Given the description of an element on the screen output the (x, y) to click on. 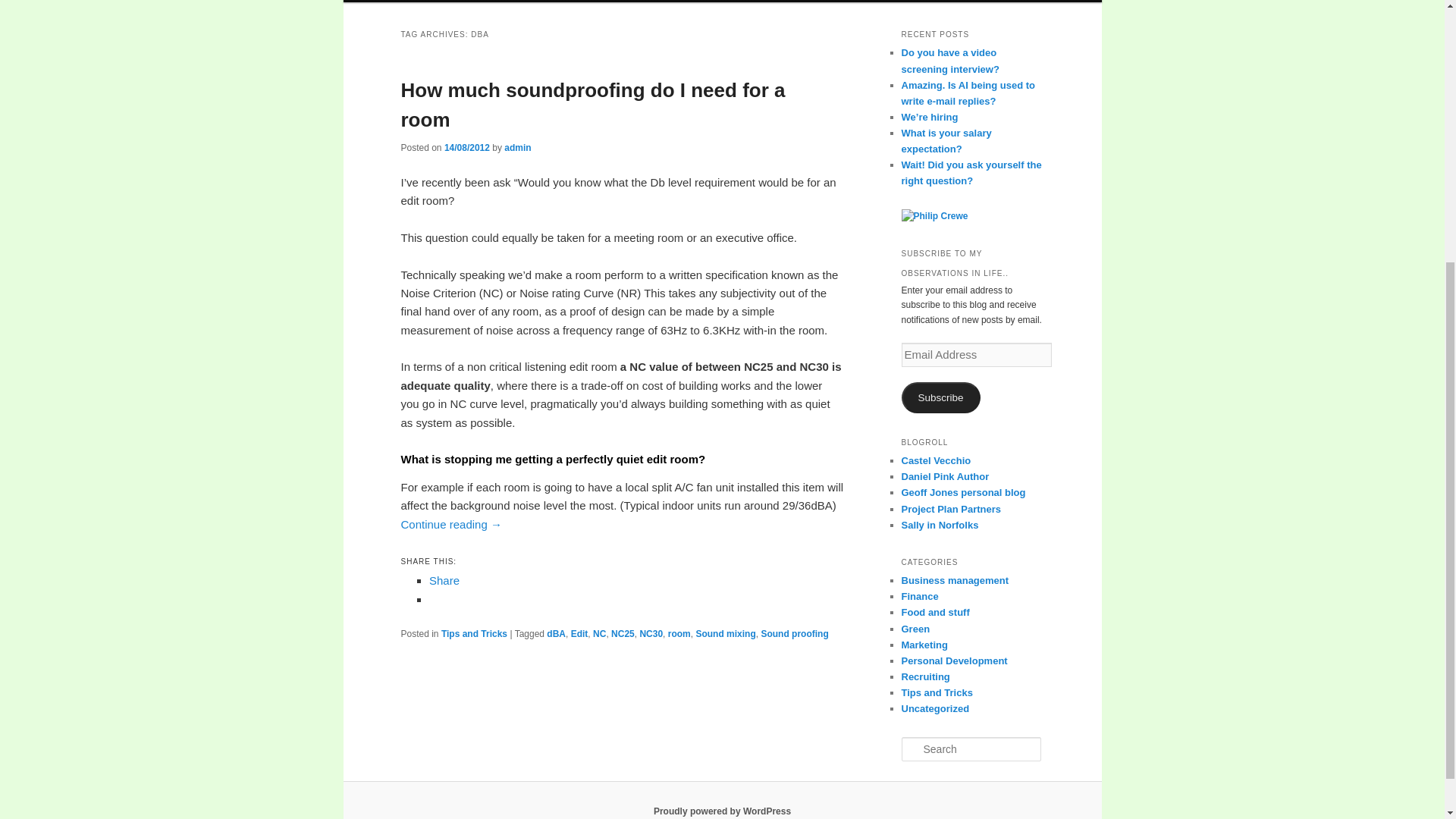
About (467, 1)
room (679, 633)
Blog written by Maria Luisa (936, 460)
Business management (955, 580)
Green (915, 628)
Sally in Norfolks (939, 524)
Project Plan Partners (951, 509)
Home (417, 1)
Do you have a video screening interview? (949, 60)
9:54 pm (466, 147)
Daniel Pink Author (944, 476)
Geoffs blog on what interests him from year to year (963, 491)
What is your salary expectation? (946, 140)
Wait! Did you ask yourself the right question? (971, 172)
Subscribe (940, 397)
